Given the description of an element on the screen output the (x, y) to click on. 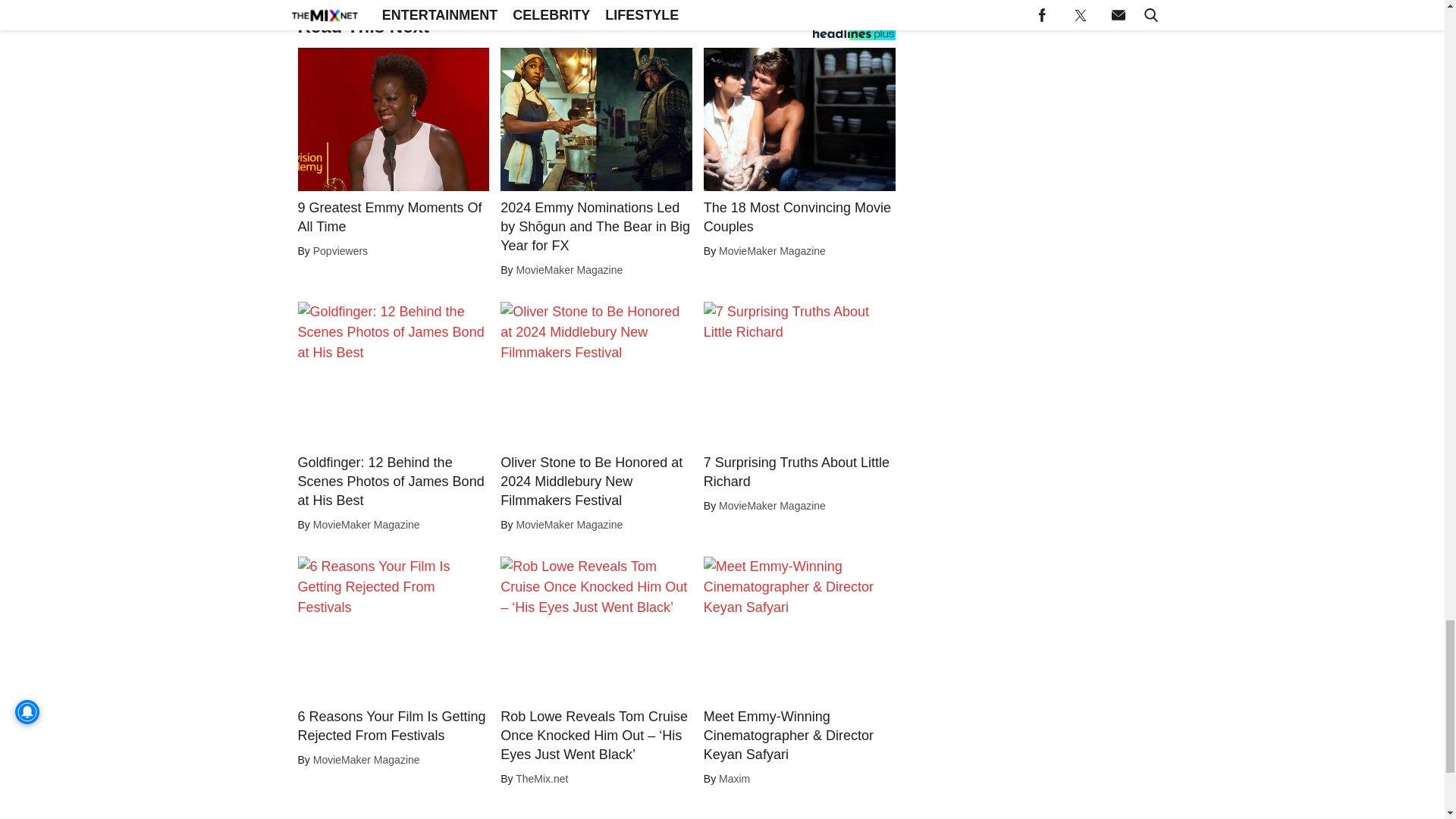
Popviewers (340, 250)
9 Greatest Emmy Moments Of All Time (393, 217)
